Given the description of an element on the screen output the (x, y) to click on. 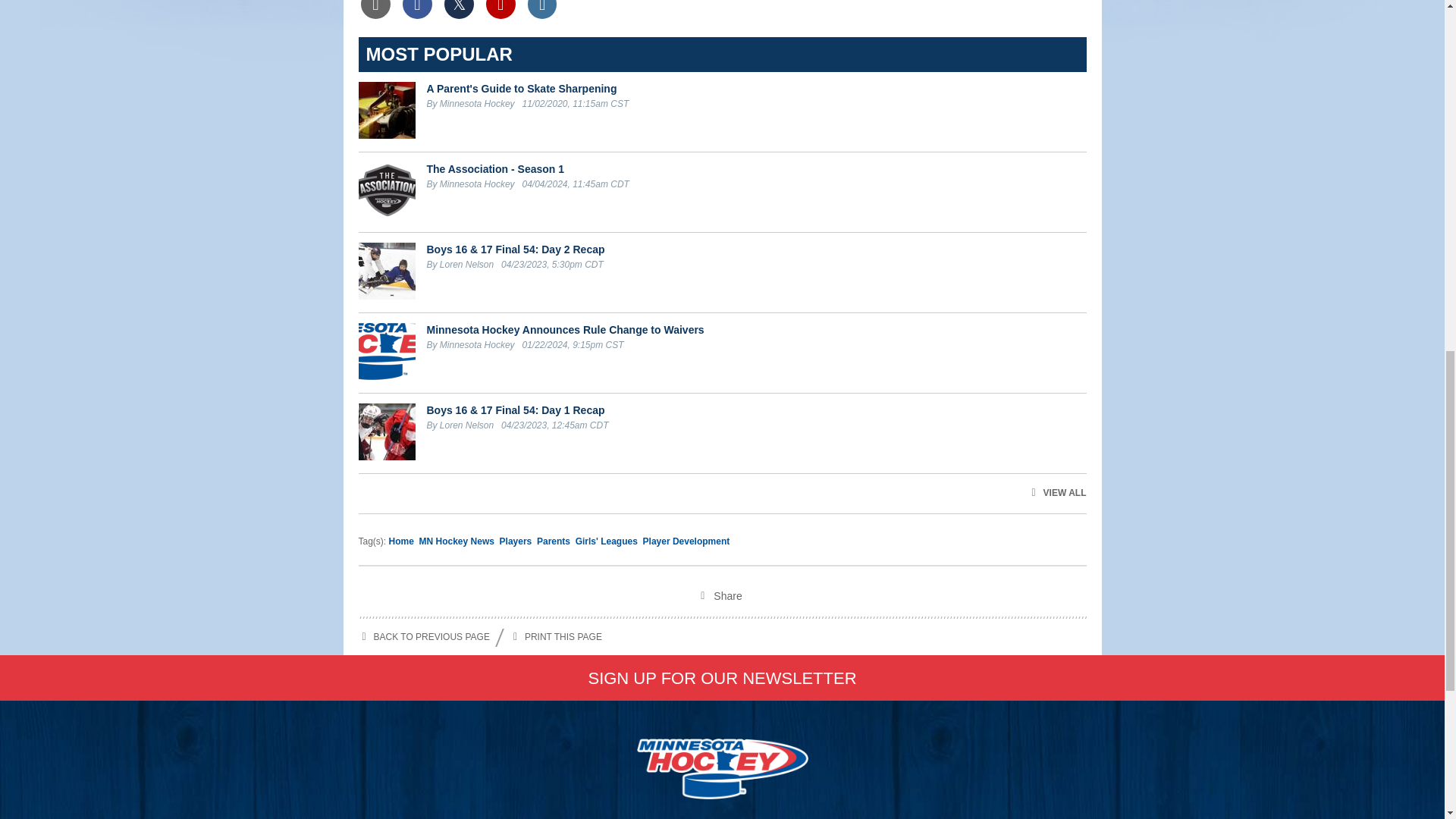
Facebook (416, 9)
YouTube (500, 9)
E-Mail (375, 9)
X App (458, 9)
